Given the description of an element on the screen output the (x, y) to click on. 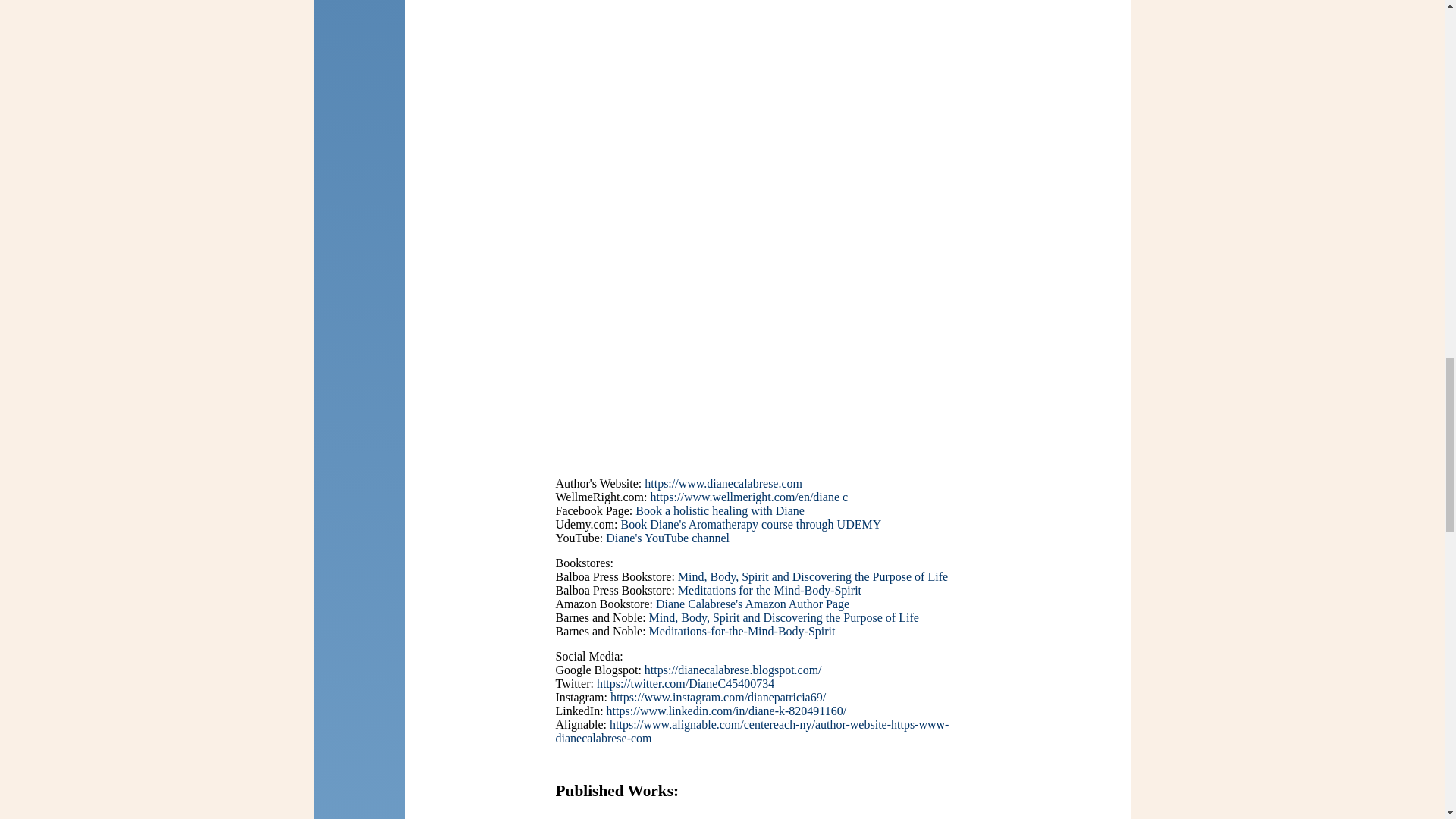
Book a holistic healing with Diane (719, 510)
YouTube video player (766, 90)
YouTube video player (766, 328)
